Given the description of an element on the screen output the (x, y) to click on. 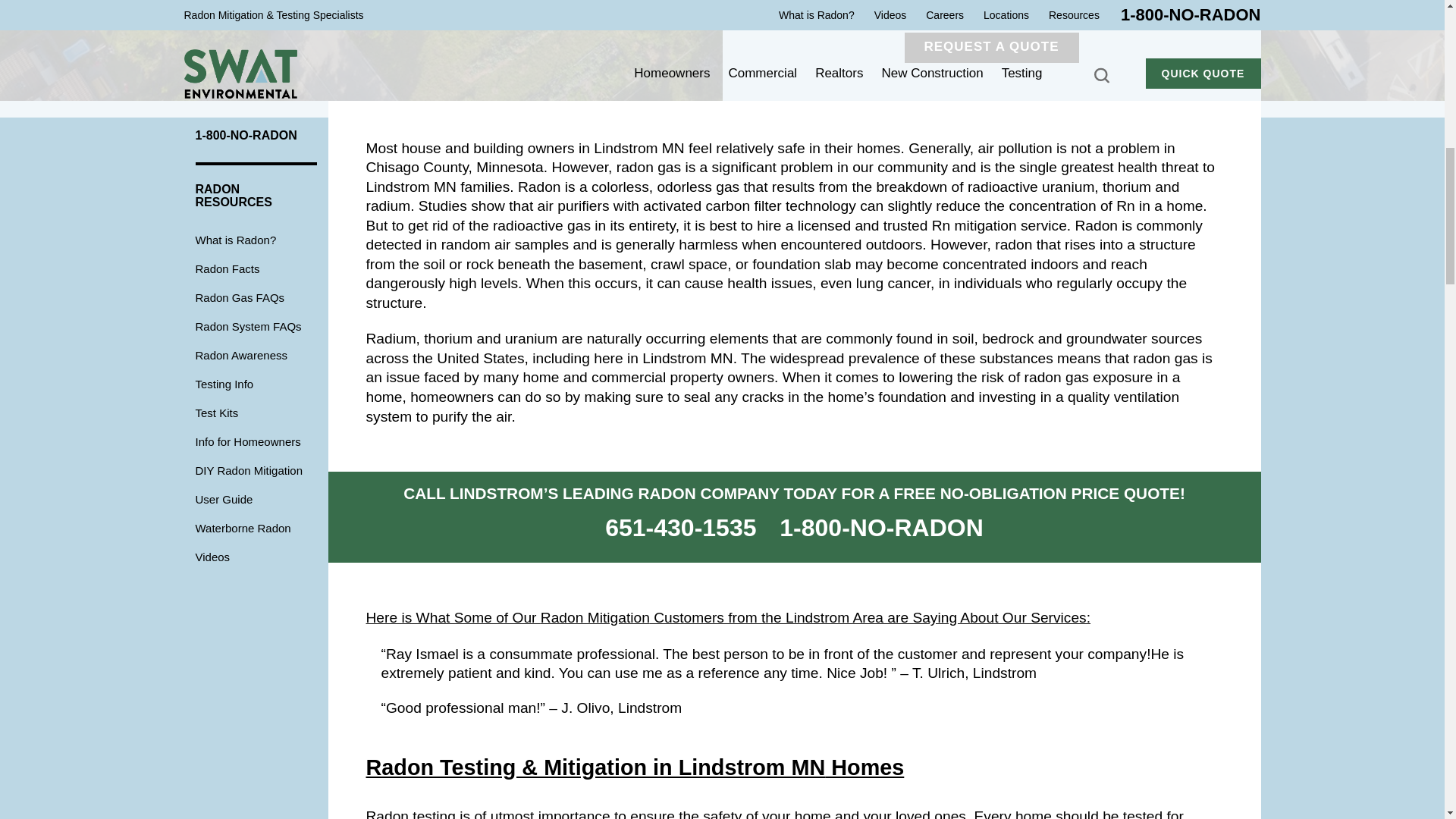
REQUEST A QUOTE (991, 47)
